Given the description of an element on the screen output the (x, y) to click on. 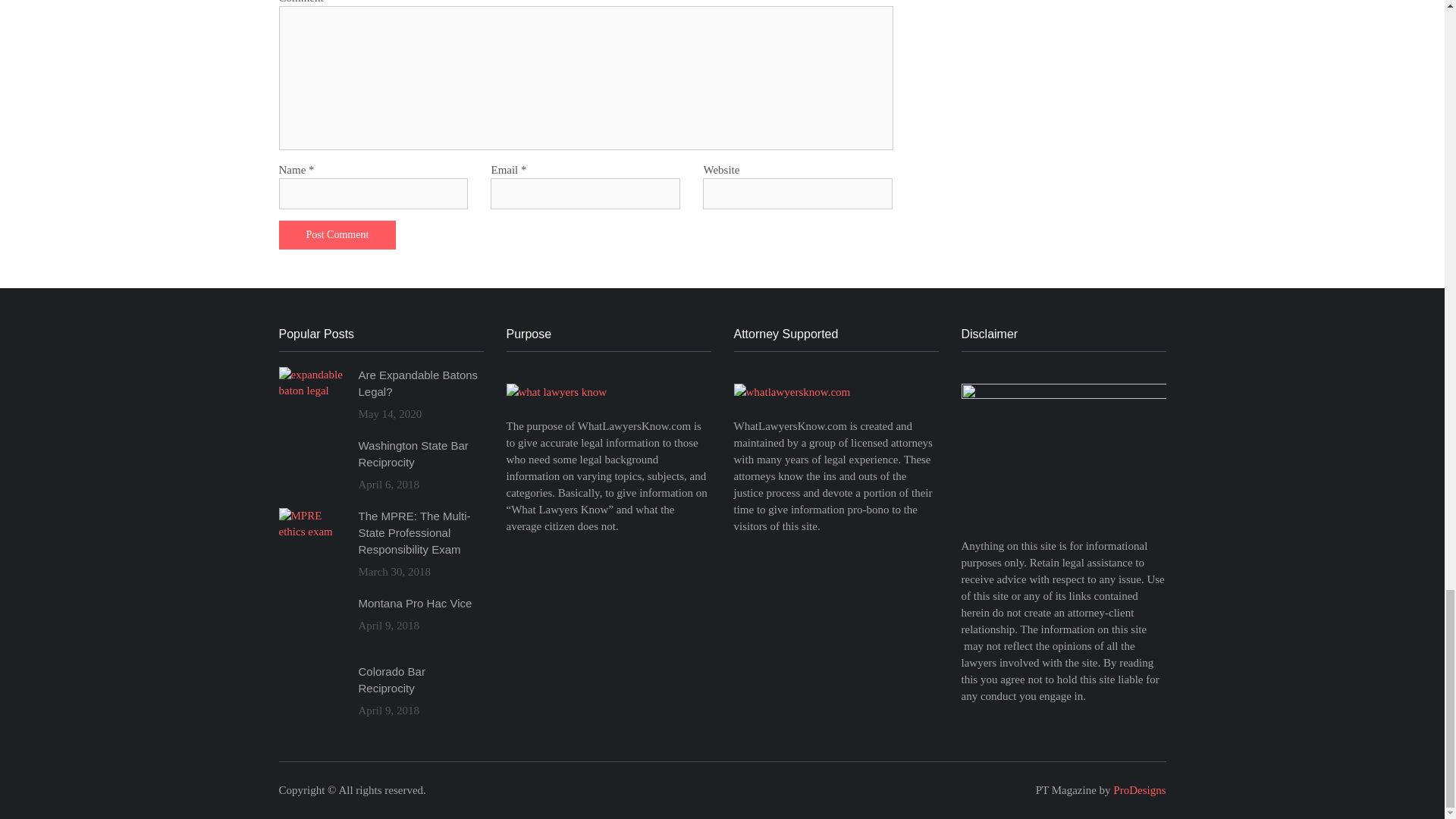
Post Comment (337, 234)
